Given the description of an element on the screen output the (x, y) to click on. 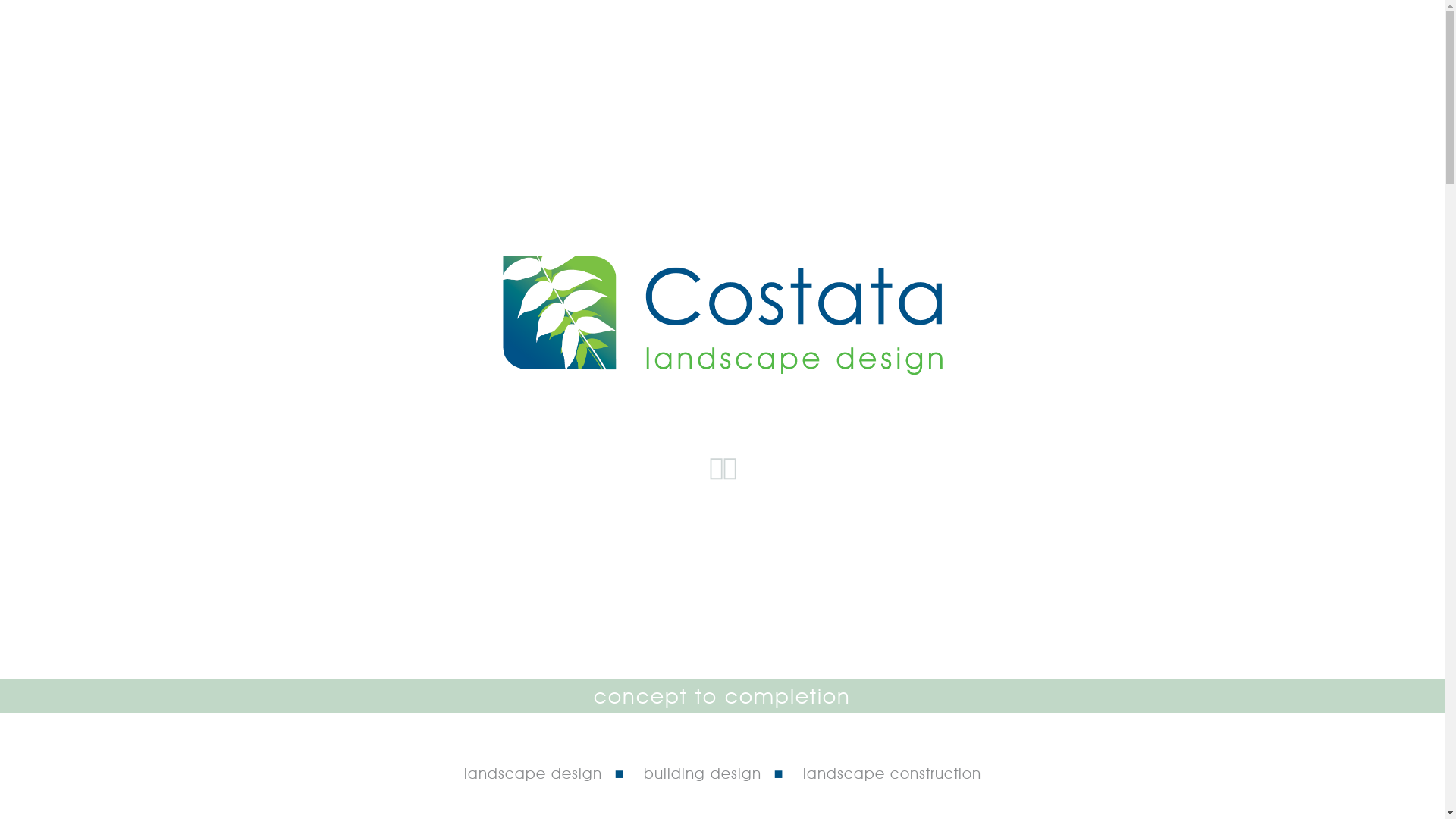
building design Element type: text (701, 773)
landscape design Element type: text (533, 773)
landscape construction Element type: text (891, 773)
